Given the description of an element on the screen output the (x, y) to click on. 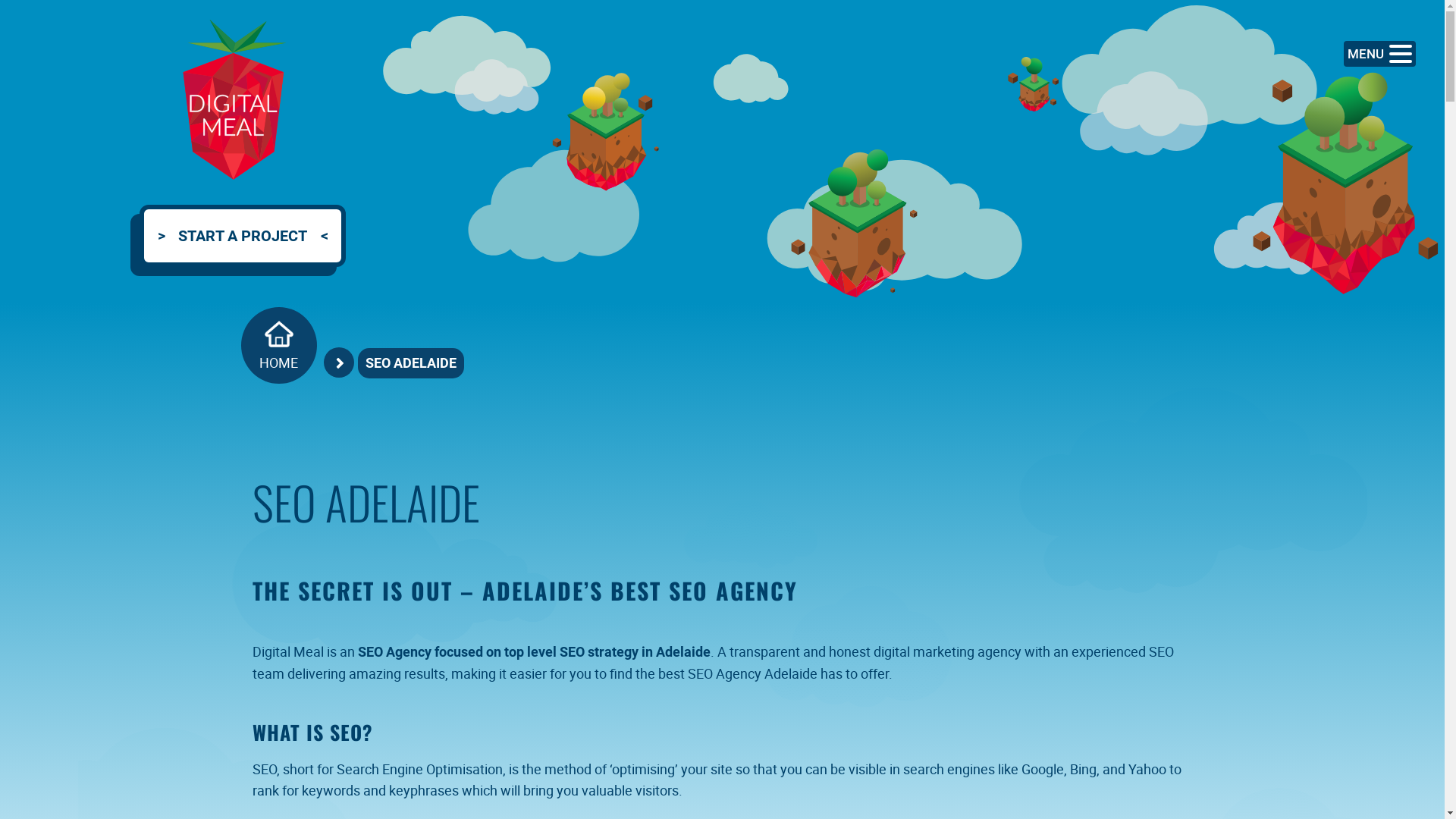
SEO ADELAIDE Element type: text (410, 363)
HOME Element type: text (278, 345)
START A PROJECT Element type: text (233, 244)
